Given the description of an element on the screen output the (x, y) to click on. 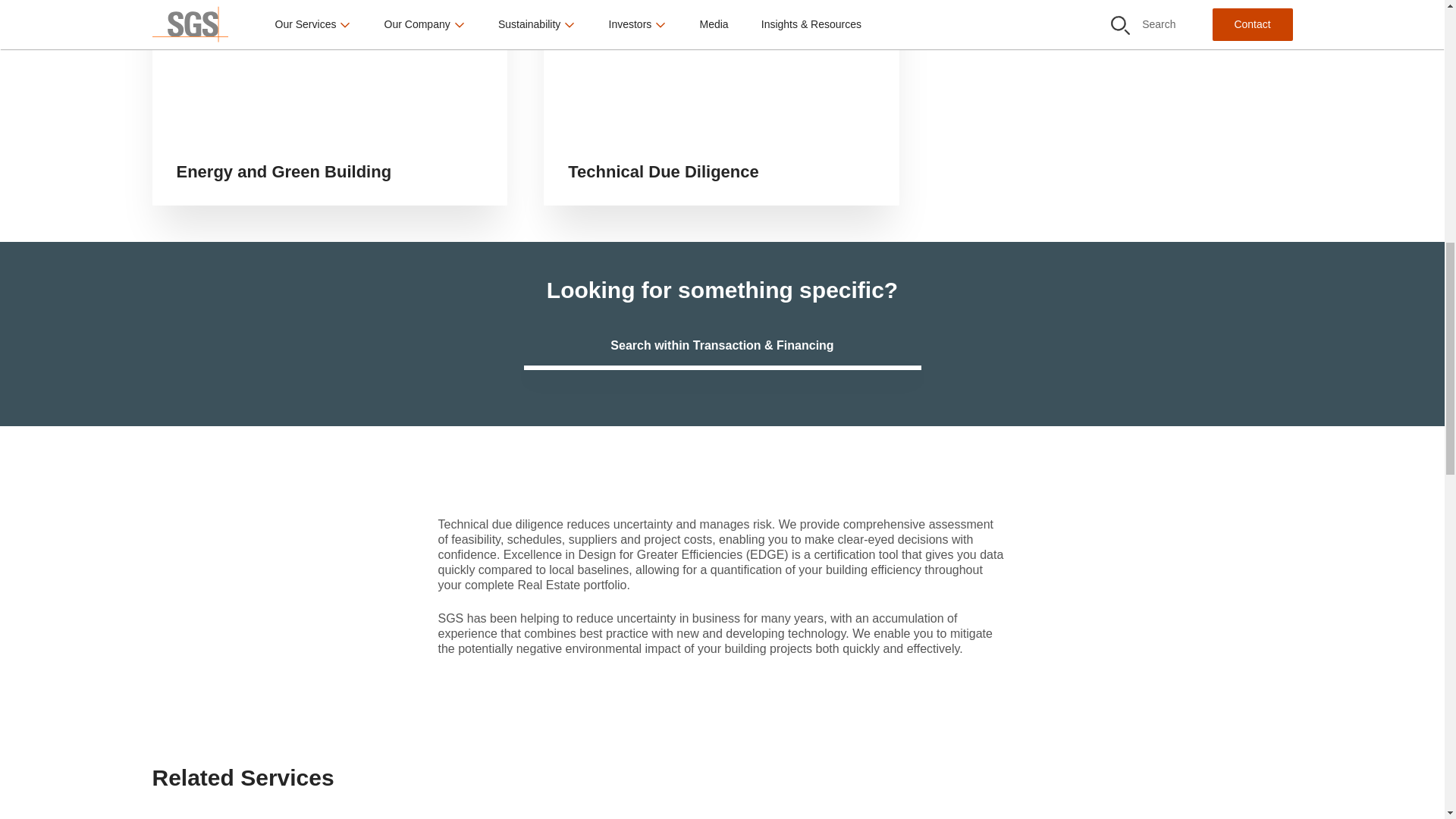
Technical Due Diligence (721, 102)
Energy and Green Building (328, 102)
